Given the description of an element on the screen output the (x, y) to click on. 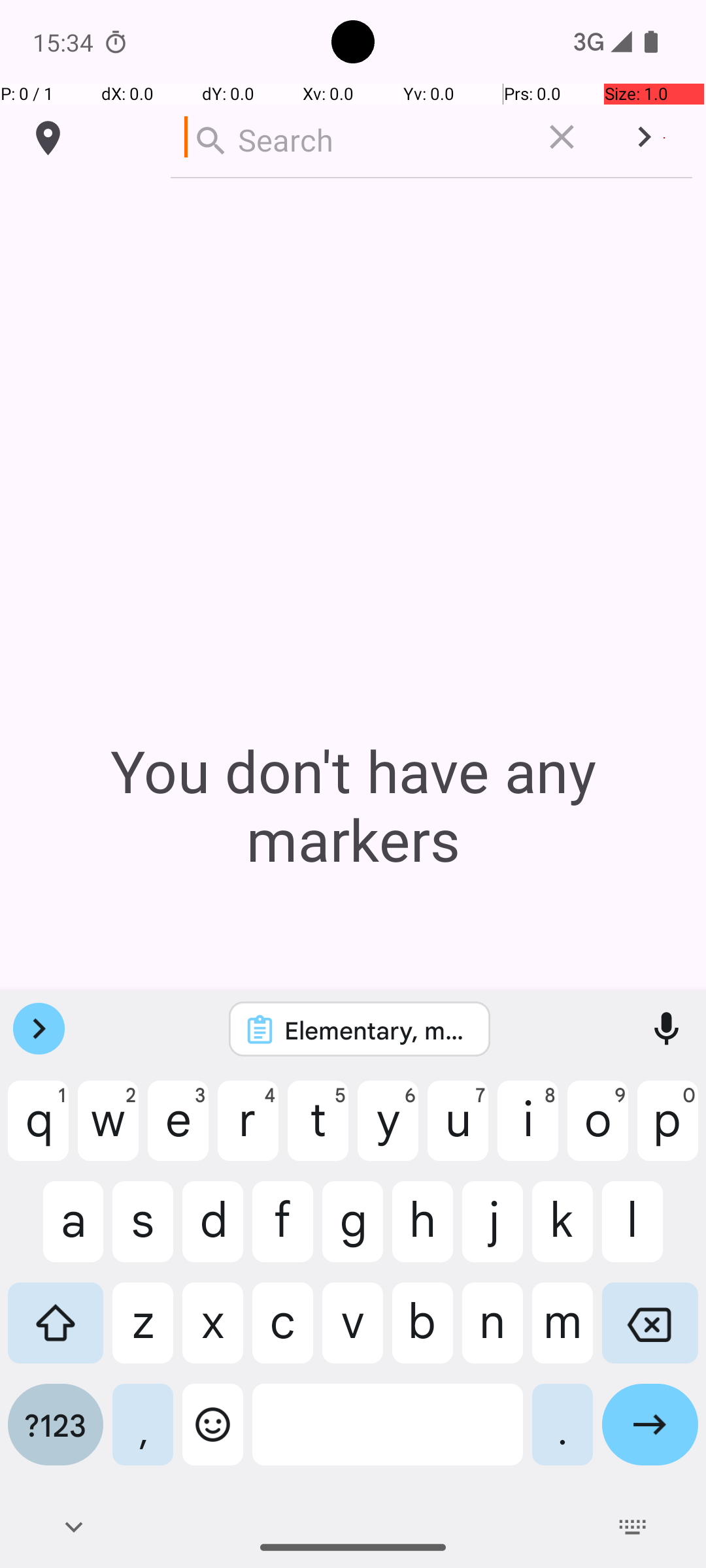
You don't have any markers Element type: android.widget.TextView (353, 805)
Go Element type: android.widget.FrameLayout (649, 1434)
